Given the description of an element on the screen output the (x, y) to click on. 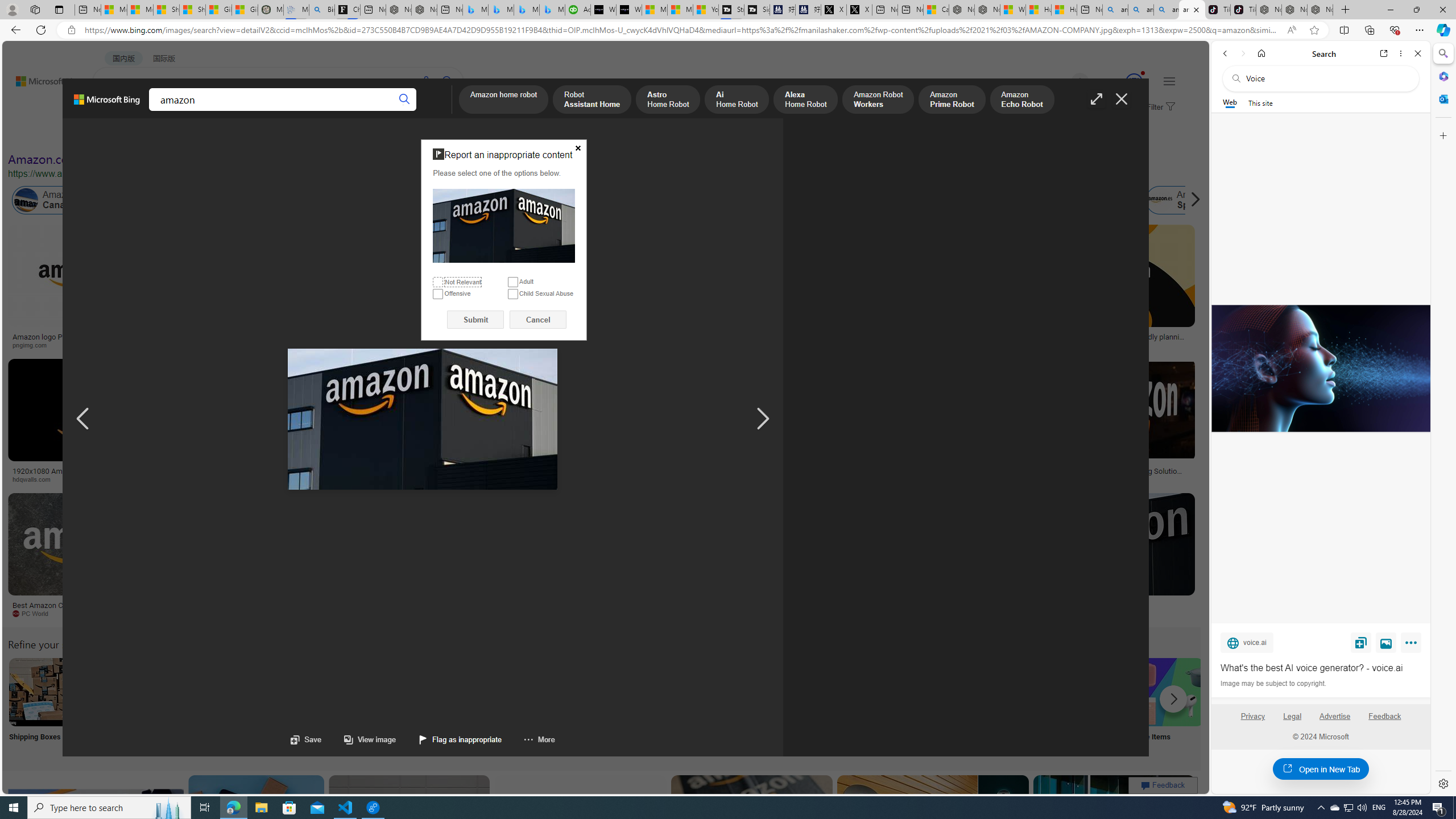
Class: item col (1183, 199)
Color (173, 135)
Microsoft Rewards 135 (1120, 81)
Amazon Jobs Near Me (342, 691)
Astro Home Robot (668, 100)
Package Delivery (418, 706)
pngimg.com (76, 344)
